Given the description of an element on the screen output the (x, y) to click on. 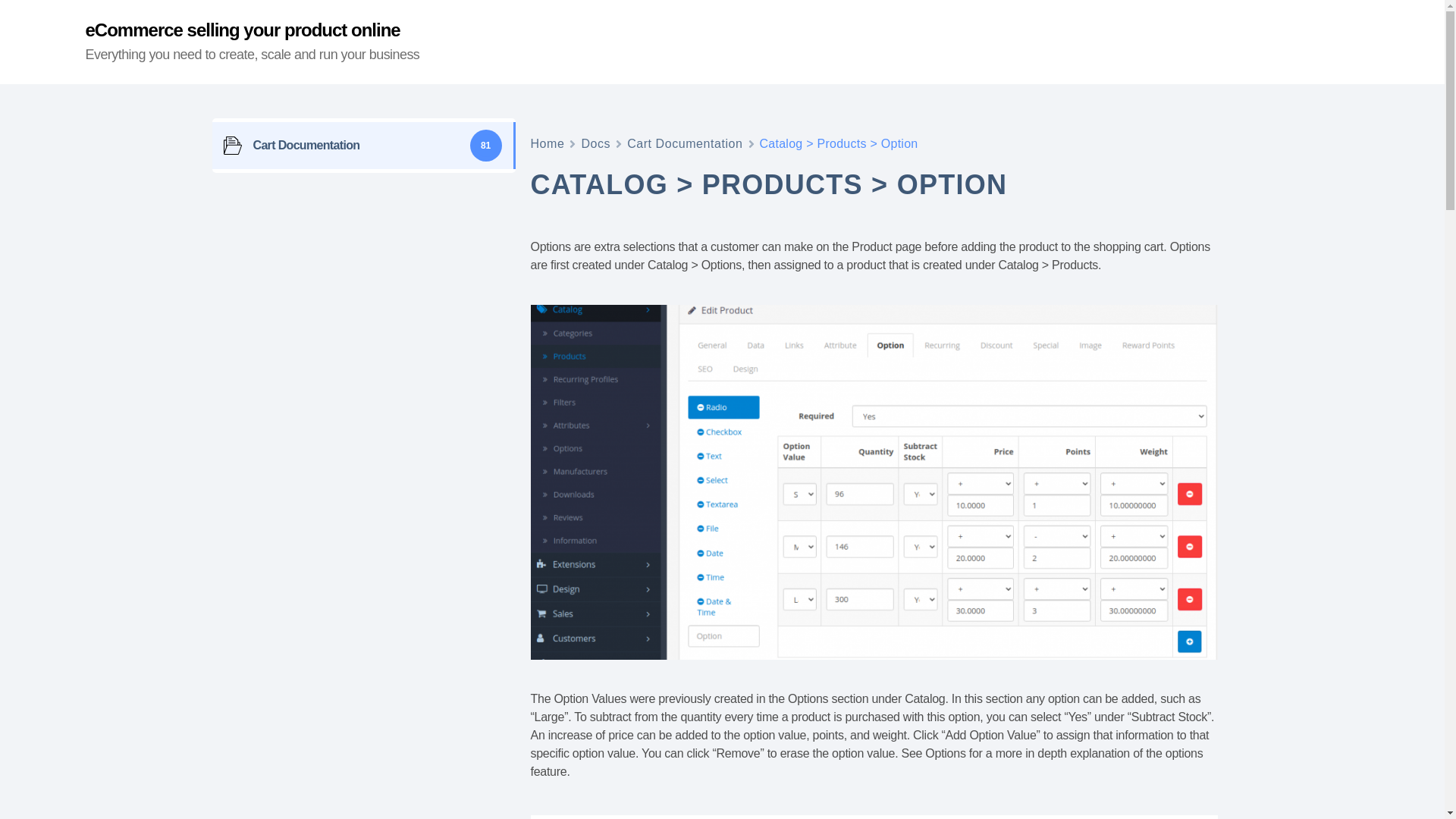
Docs (595, 143)
eCommerce selling your product online (241, 30)
Cart Documentation (684, 143)
Home (547, 143)
